Given the description of an element on the screen output the (x, y) to click on. 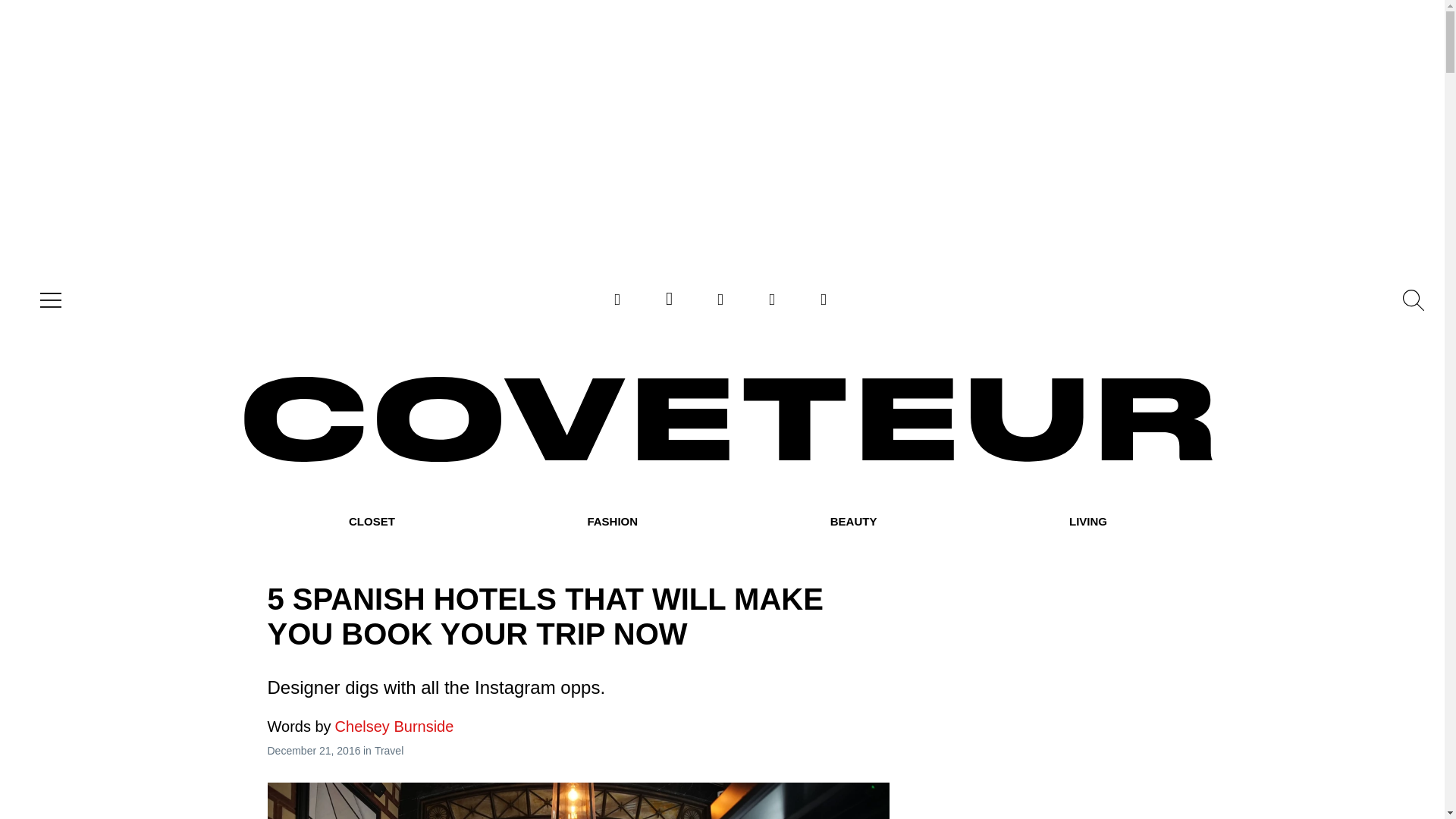
Chelsey Burnside (359, 726)
BEAUTY (853, 521)
CLOSET (371, 521)
LIVING (1087, 521)
FASHION (611, 521)
Travel (388, 750)
menu (47, 299)
